Given the description of an element on the screen output the (x, y) to click on. 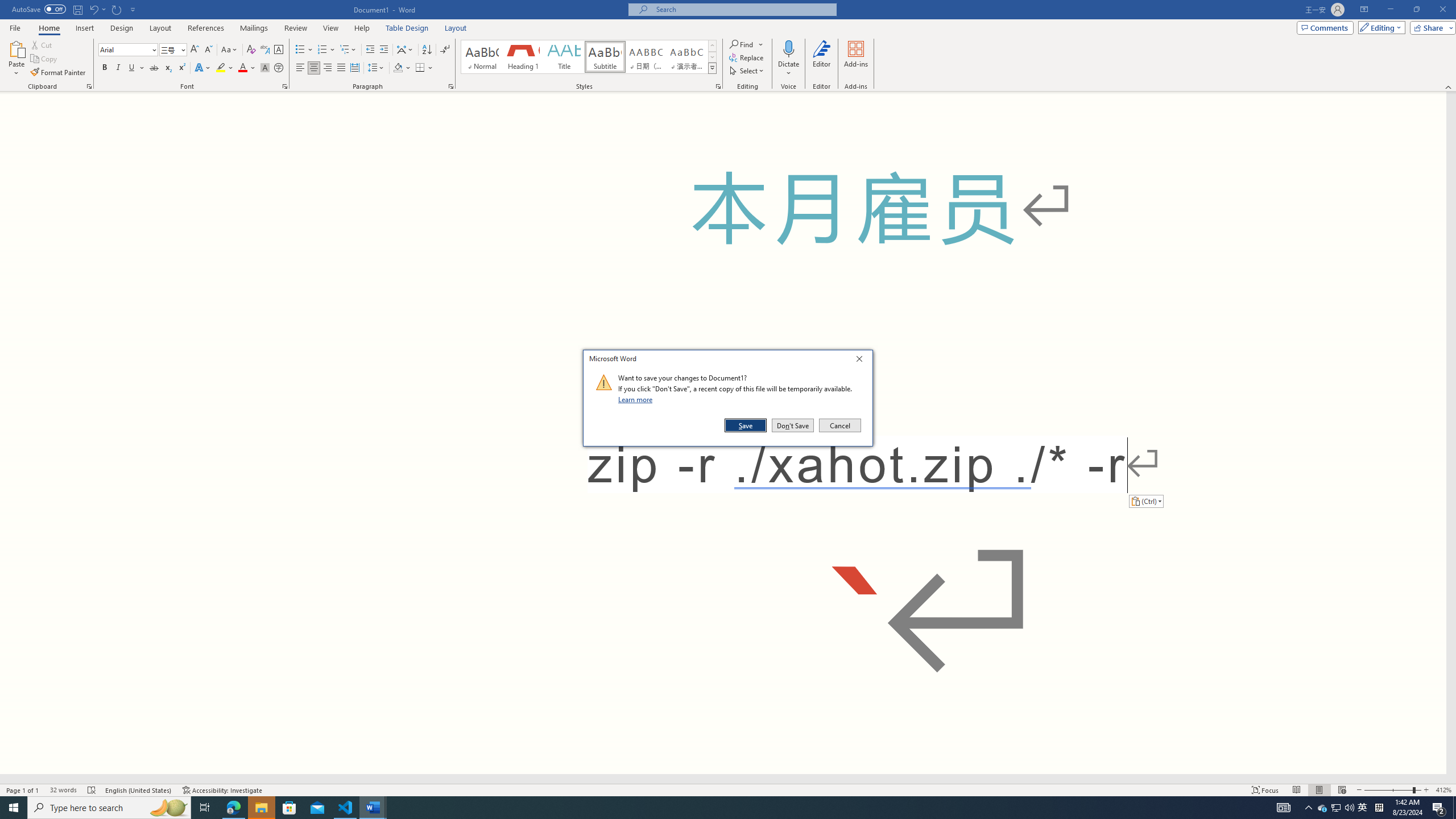
Line and Paragraph Spacing (376, 67)
Title (564, 56)
Microsoft Edge - 1 running window (233, 807)
Visual Studio Code - 1 running window (345, 807)
Increase Indent (383, 49)
Font Color (246, 67)
File Explorer - 1 running window (261, 807)
Collapse the Ribbon (1448, 86)
